Given the description of an element on the screen output the (x, y) to click on. 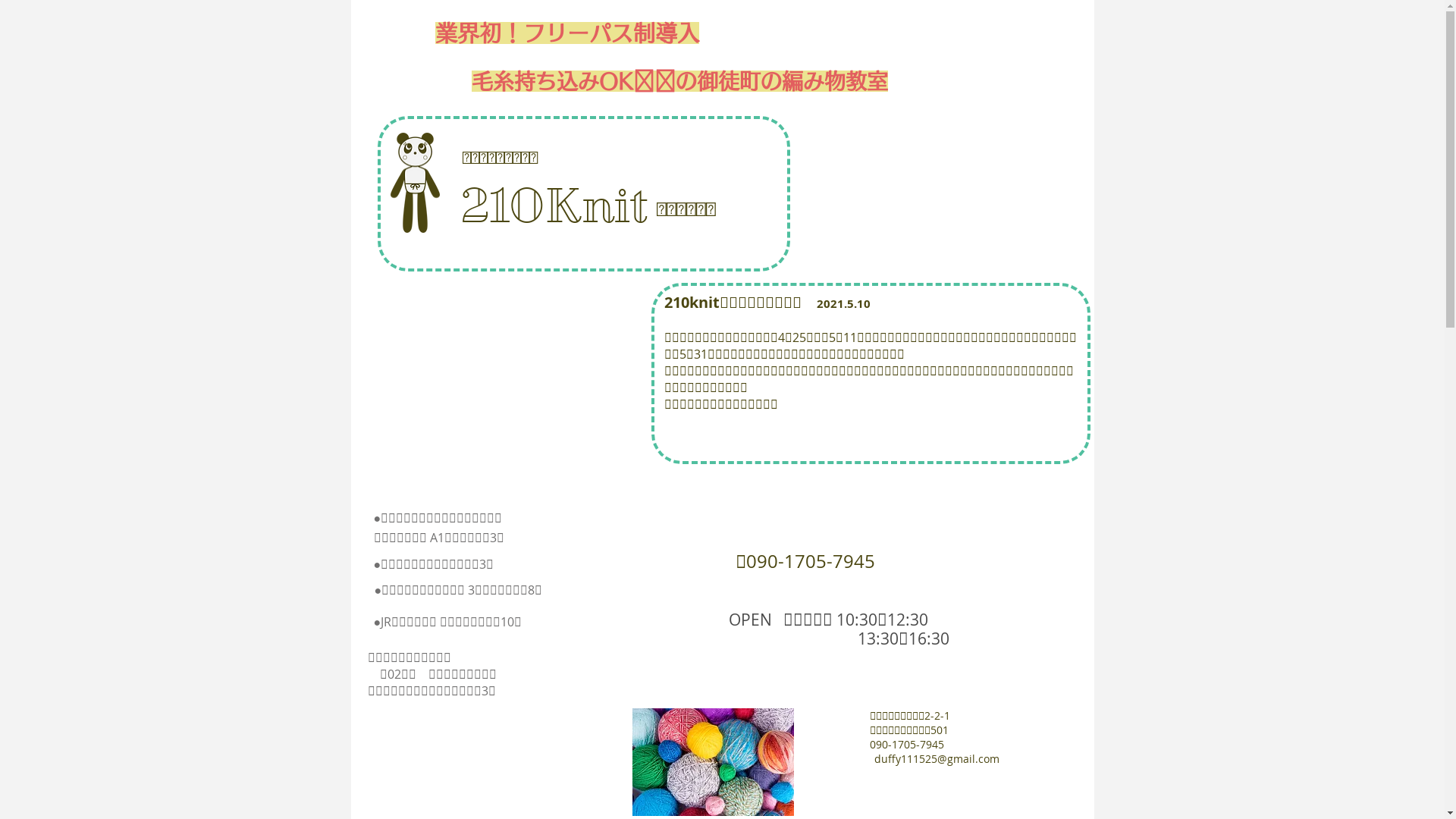
duffy111525@gmail.com Element type: text (935, 758)
